Given the description of an element on the screen output the (x, y) to click on. 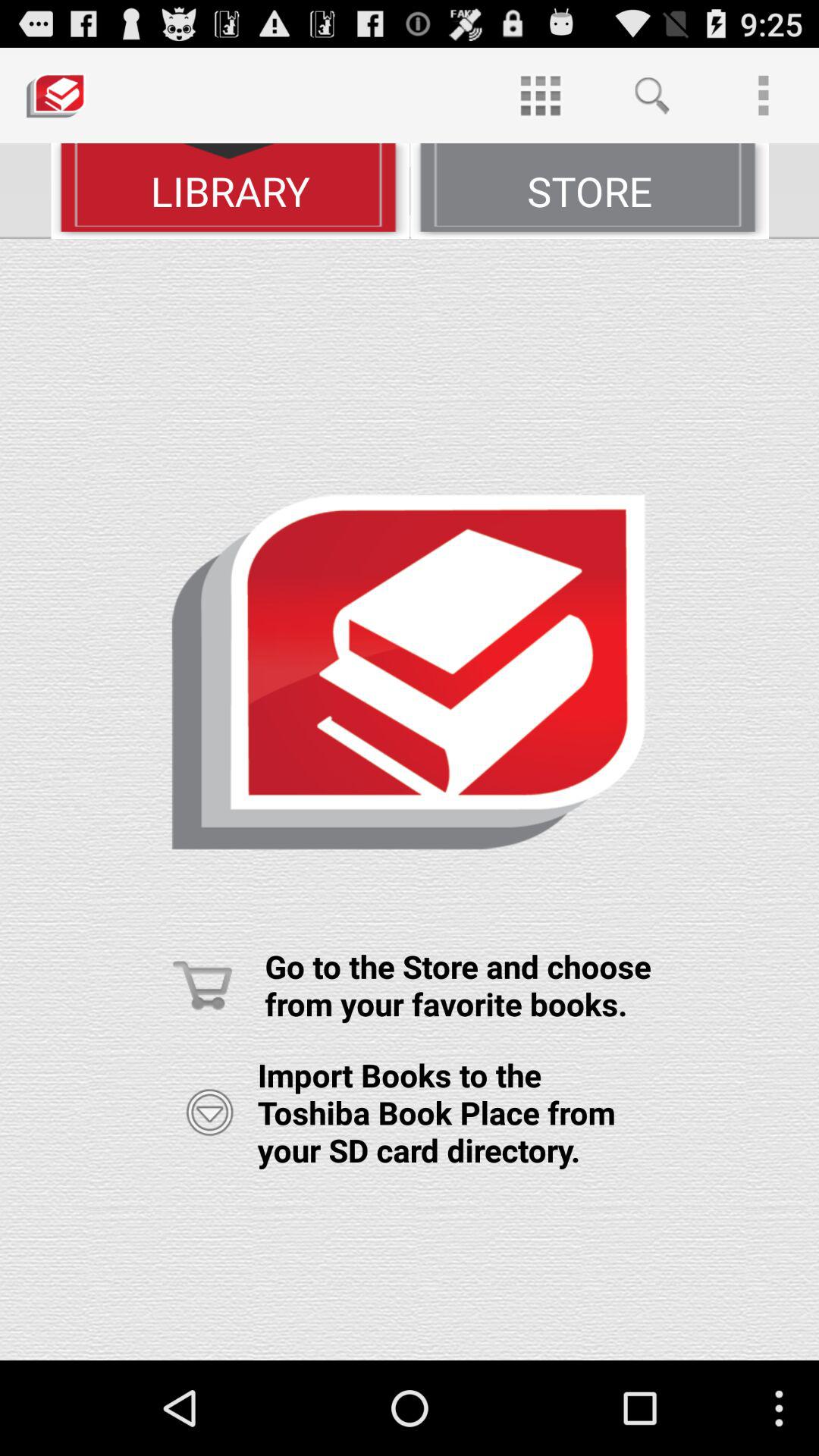
instruction panel (409, 799)
